Given the description of an element on the screen output the (x, y) to click on. 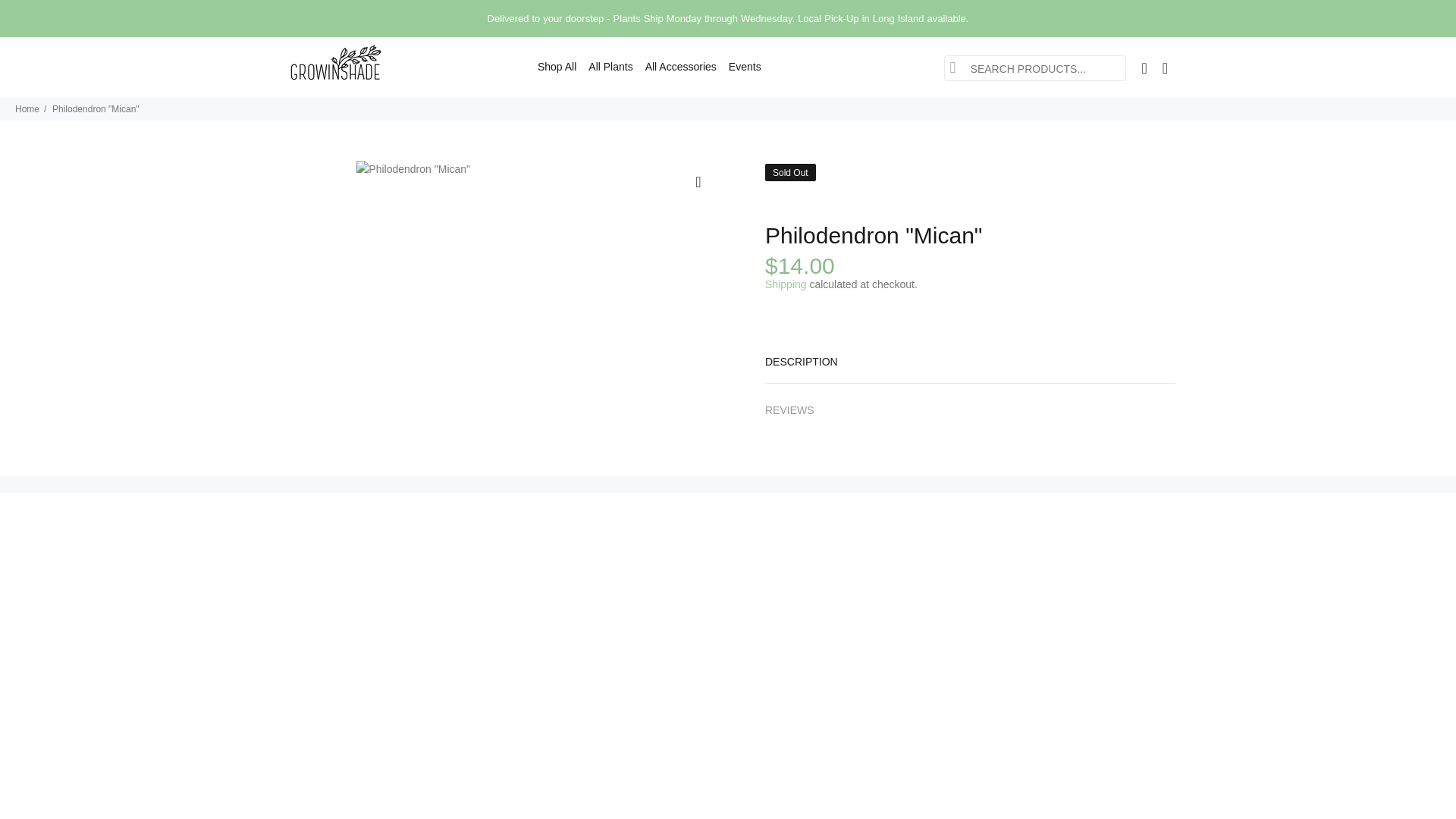
Shop All (555, 66)
Home (26, 109)
Shipping (785, 284)
Events (741, 66)
All Plants (610, 66)
All Accessories (680, 66)
